Given the description of an element on the screen output the (x, y) to click on. 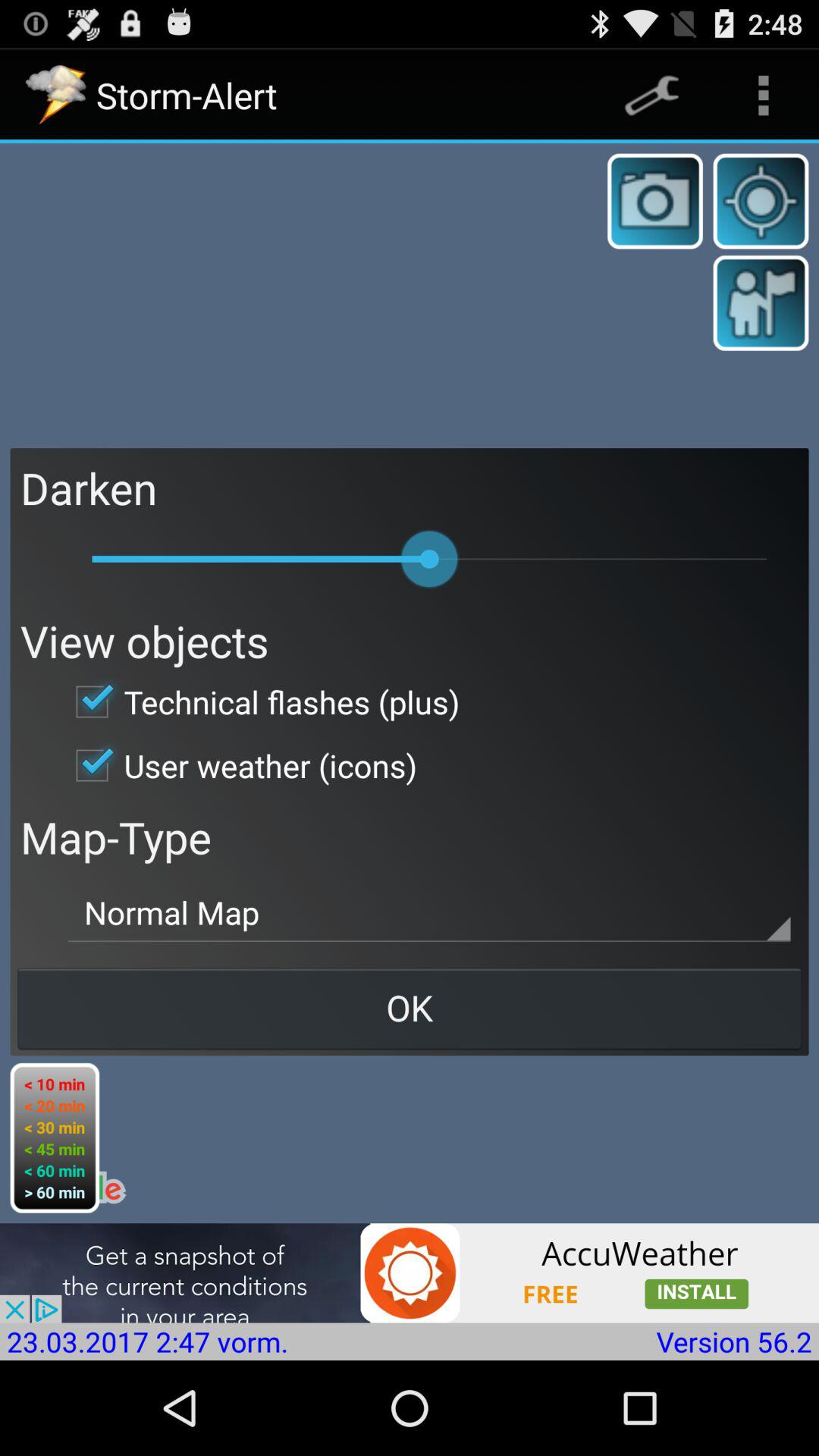
take screenshot (654, 201)
